Given the description of an element on the screen output the (x, y) to click on. 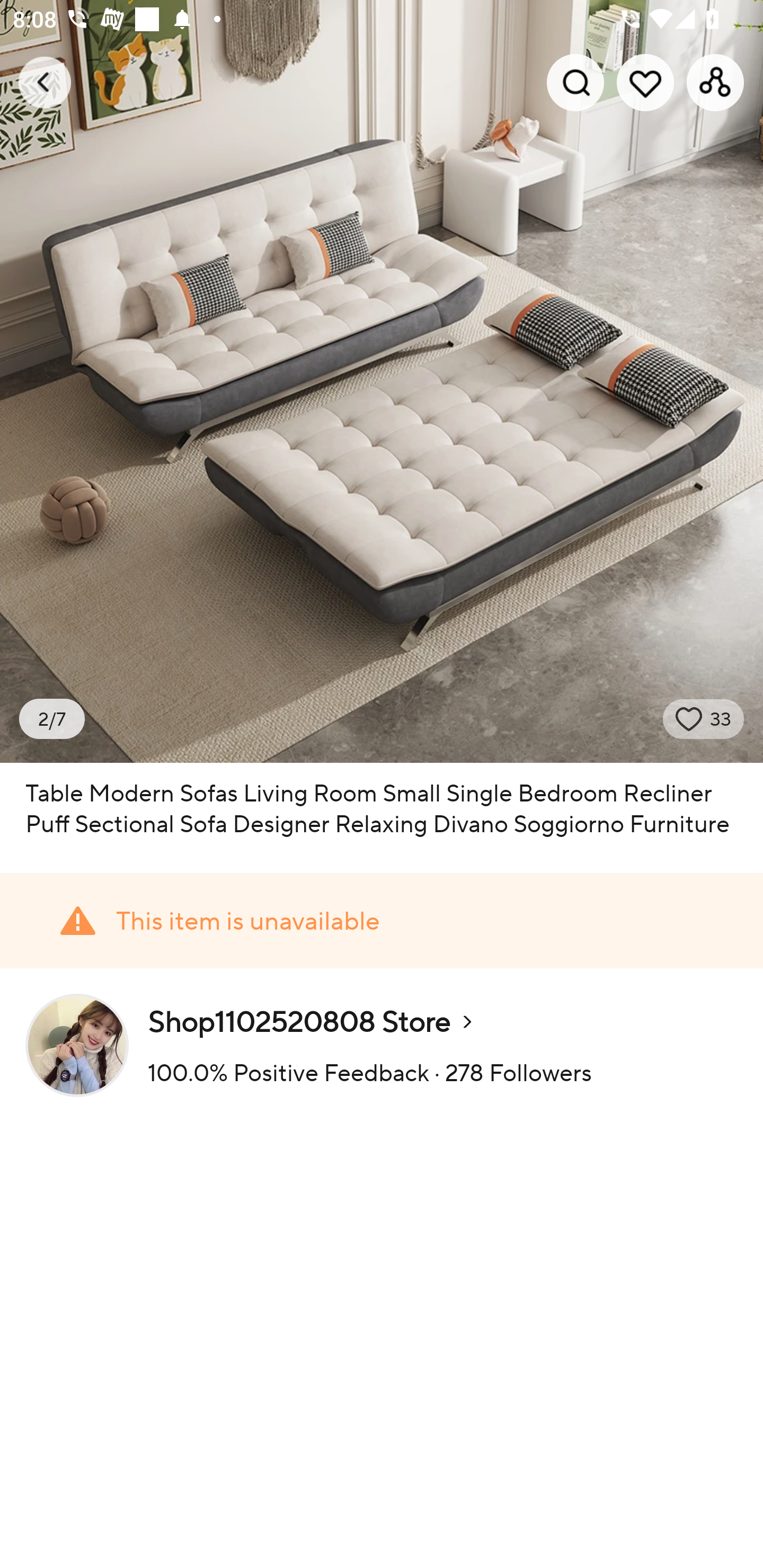
Navigate up (44, 82)
wish state 33 (703, 718)
